Given the description of an element on the screen output the (x, y) to click on. 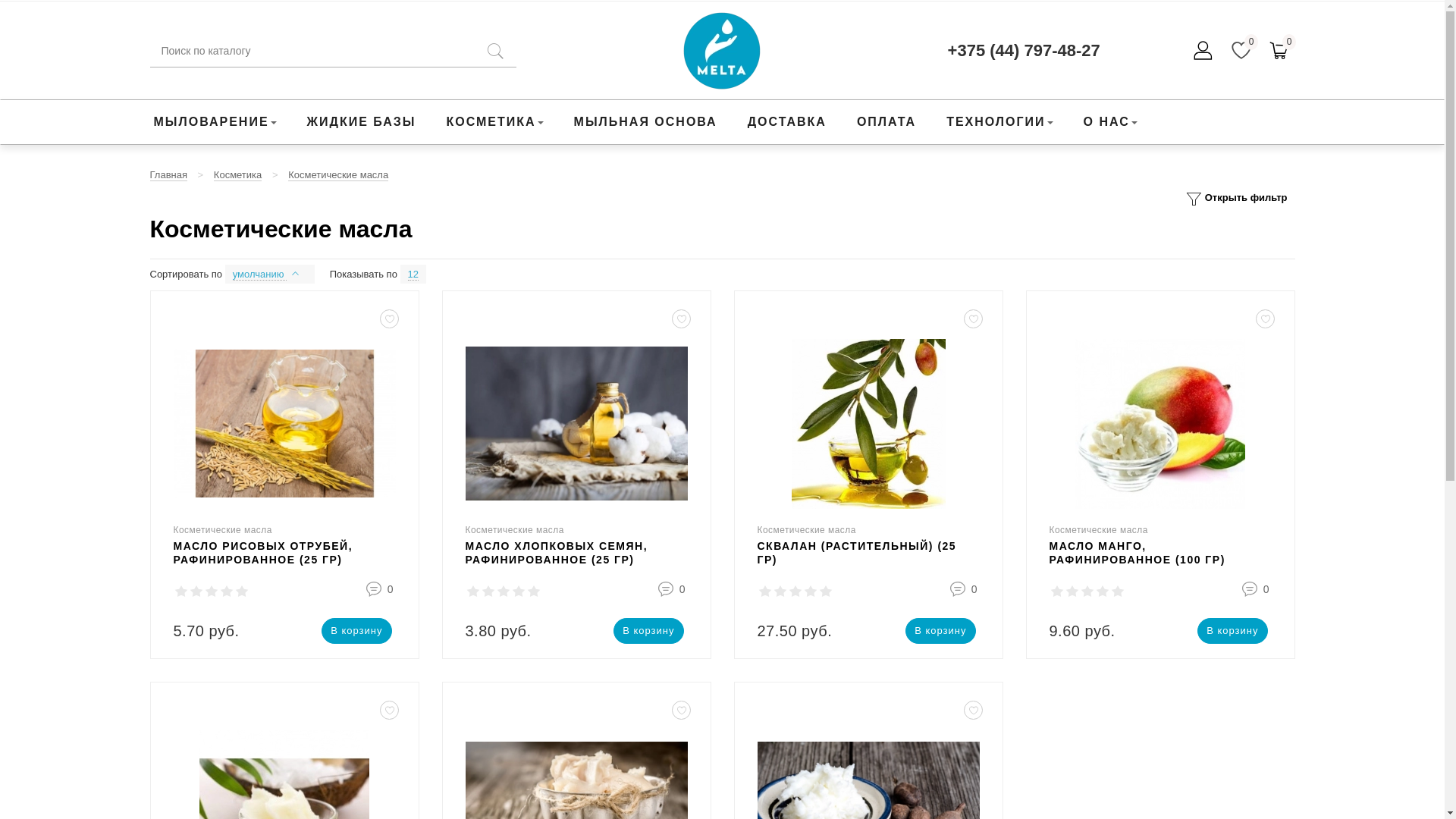
0 Element type: text (1266, 588)
0 Element type: text (390, 588)
0 Element type: text (682, 588)
0 Element type: text (974, 588)
+375 (44) 797-48-27 Element type: text (1023, 50)
